Given the description of an element on the screen output the (x, y) to click on. 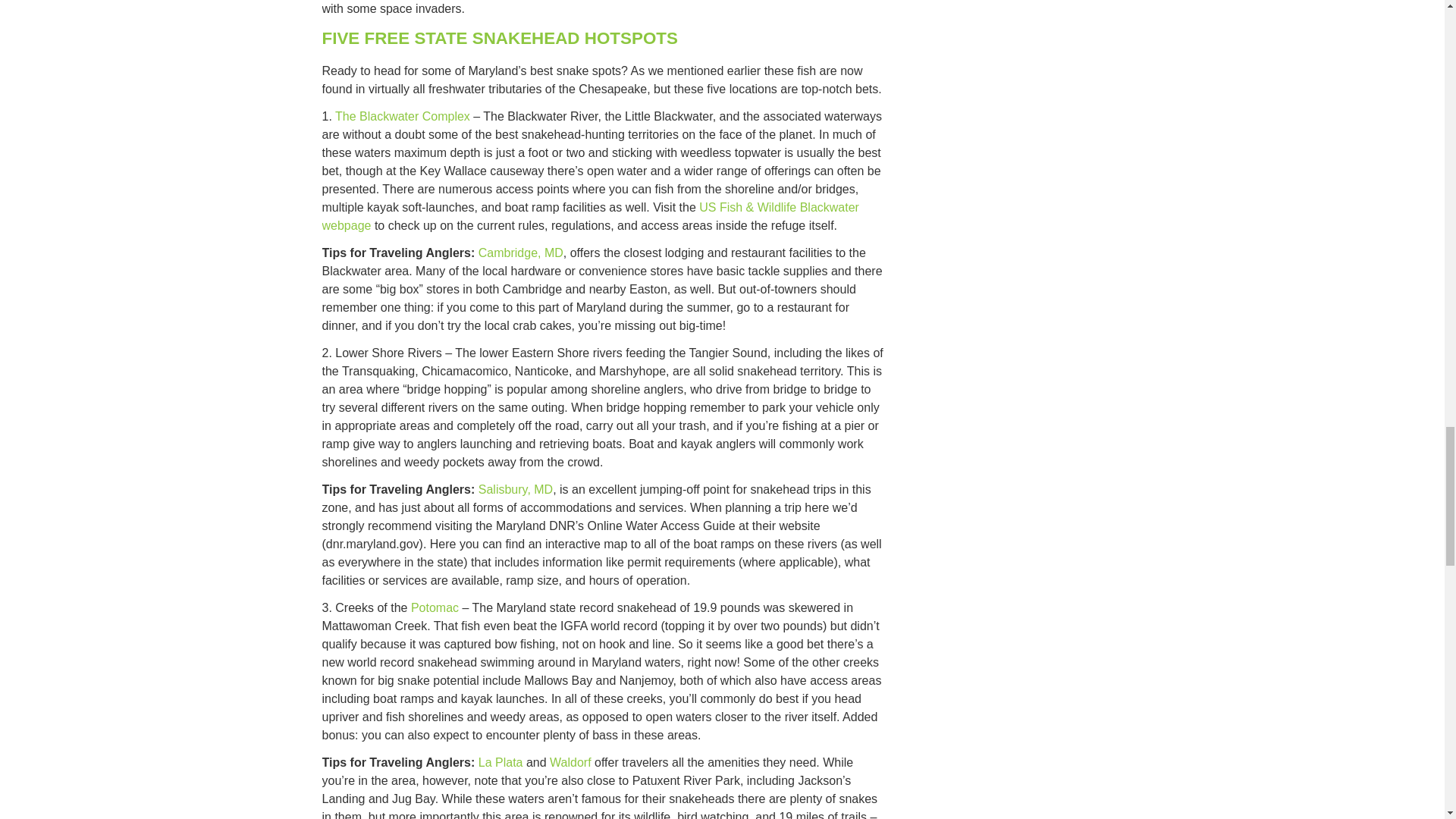
Potomac (434, 607)
Salisbury, MD (516, 489)
The Blackwater Complex (402, 115)
La Plata (500, 762)
Waldorf (570, 762)
Cambridge, MD (521, 252)
